Given the description of an element on the screen output the (x, y) to click on. 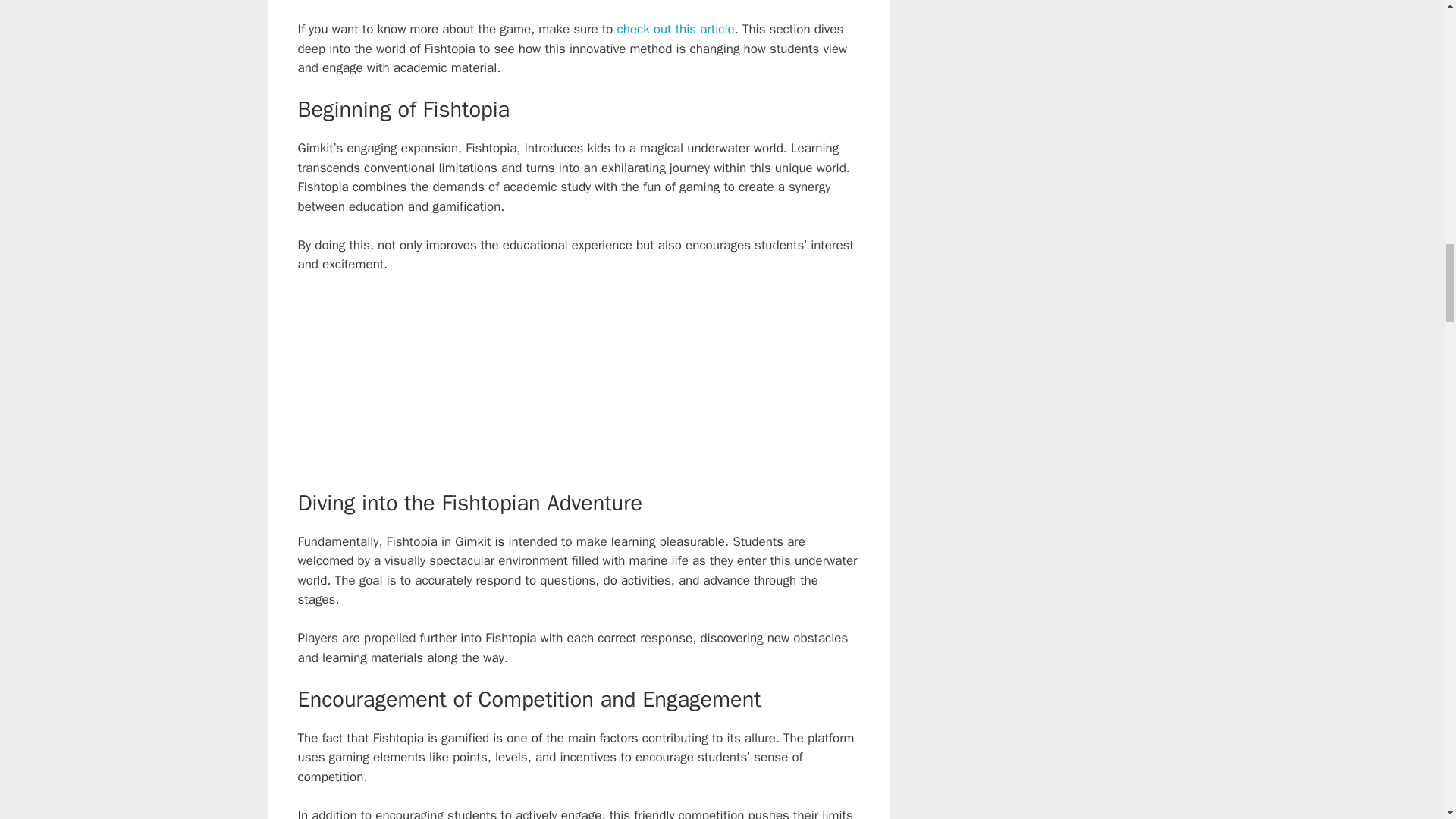
check out this article (676, 28)
